Given the description of an element on the screen output the (x, y) to click on. 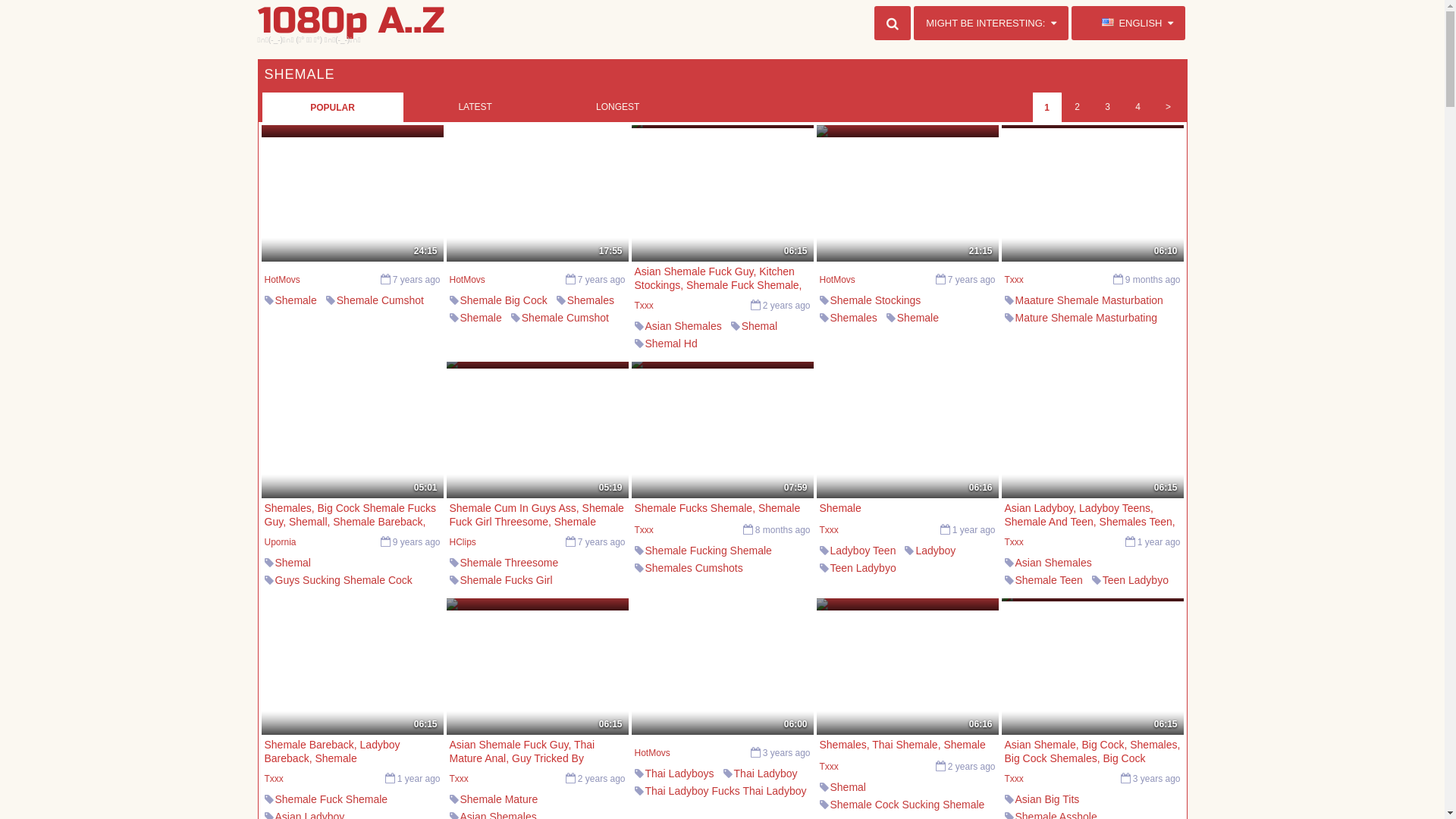
Shemale Cumshot Element type: text (872, 334)
Shemales Element type: text (590, 299)
Shemale Cumshot Element type: text (379, 299)
Shemale Element type: text (917, 317)
HClips Element type: text (461, 541)
Shemale Element type: text (480, 317)
Shemale Threesome Element type: text (508, 562)
Shemale Mature Element type: text (498, 798)
Amateur Teen Shemale Element type: text (1069, 597)
Txxx Element type: text (642, 305)
Shemale Fuck Girl Element type: text (502, 632)
4 Element type: text (1137, 106)
Txxx Element type: text (1013, 541)
Shemale Element type: text (295, 299)
Mature Shemale Masturbating Element type: text (1085, 317)
LONGEST Element type: text (617, 106)
Shemale Big Cock Element type: text (502, 299)
HotMovs Element type: text (281, 279)
3 Element type: text (1107, 106)
Teen Ladybyo Element type: text (1135, 579)
POPULAR Element type: text (331, 106)
Shemale Fucks Girl Element type: text (505, 579)
Thai Ladyboys Element type: text (678, 773)
Shemales Fuck Shemales Element type: text (706, 585)
Teen Shemales Element type: text (1051, 614)
Shemale Cumshot Element type: text (564, 317)
Txxx Element type: text (457, 778)
Ladyboy Teen Element type: text (862, 550)
Thai Ladyboy Element type: text (765, 773)
Upornia Element type: text (279, 541)
Shemale Cock Sucking Shemale Element type: text (906, 804)
1 Element type: text (1046, 106)
Shemale Element type: text (1035, 352)
Shemale Fucking Shemale Element type: text (707, 550)
LATEST Element type: text (475, 106)
Txxx Element type: text (272, 778)
Shemal Element type: text (292, 562)
Shemales Element type: text (1037, 334)
Shemale Blowjob Element type: text (870, 602)
Thai Shemale Element type: text (676, 808)
Asian Shemale Bondage Element type: text (887, 585)
Shemale Fucks Guy Element type: text (322, 597)
Txxx Element type: text (1013, 279)
MIGHT BE INTERESTING: Element type: text (990, 23)
> Element type: text (1167, 106)
Asian Big Tits Element type: text (1046, 798)
Maature Shemale Masturbation Element type: text (1088, 299)
HotMovs Element type: text (836, 279)
Shemal Hd Element type: text (670, 343)
HotMovs Element type: text (466, 279)
Shemale Fucking Shemale Element type: text (707, 360)
Shemale Teen Element type: text (1048, 579)
2 Element type: text (1076, 106)
Shemal Element type: text (759, 325)
Shemale Fucks Guy Element type: text (507, 597)
ENGLISH Element type: text (1128, 23)
Asian Shemales Element type: text (682, 325)
Teen Ladybyo Element type: text (862, 567)
Ladyboy Element type: text (935, 550)
Mature Shemale Element type: text (1121, 334)
Shemal Element type: text (847, 786)
Thai Ladyboy Fucks Thai Ladyboy Element type: text (725, 790)
Txxx Element type: text (828, 529)
HotMovs Element type: text (651, 752)
Shemale Fuck Shemale Element type: text (330, 798)
Guys Sucking Shemale Cock Element type: text (342, 579)
Asian Shemales Element type: text (1052, 562)
Shemale Stockings Element type: text (874, 299)
Shemal With Big Cock Fuuck Guy Element type: text (354, 614)
Shemales Fuck Guy Element type: text (322, 632)
Txxx Element type: text (1013, 778)
Shemale On Shemale Element type: text (696, 602)
Shemale Element type: text (750, 808)
Txxx Element type: text (828, 766)
Shemales Element type: text (852, 317)
Shemale Stockings Element type: text (689, 378)
Txxx Element type: text (642, 529)
Shemale Threesomes Element type: text (511, 614)
Shemales Element type: text (667, 620)
Shemales Cumshots Element type: text (693, 567)
